Given the description of an element on the screen output the (x, y) to click on. 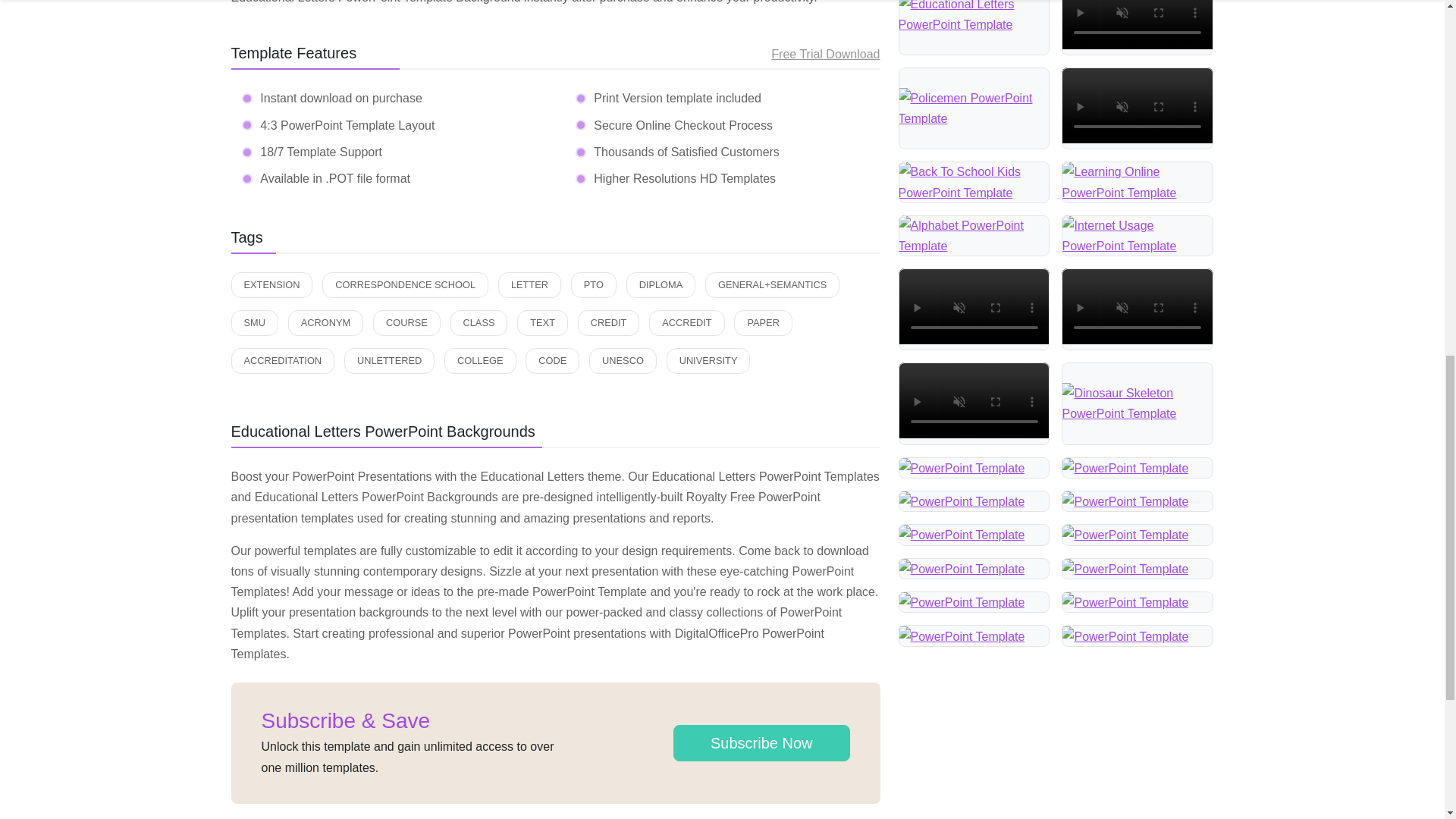
COURSE (406, 322)
CLASS (478, 322)
correspondence school powerpoint templates (404, 284)
text powerpoint templates (541, 322)
TEXT (541, 322)
accredit powerpoint templates (686, 322)
LETTER (528, 284)
letter powerpoint templates (528, 284)
class powerpoint templates (478, 322)
EXTENSION (271, 284)
